Given the description of an element on the screen output the (x, y) to click on. 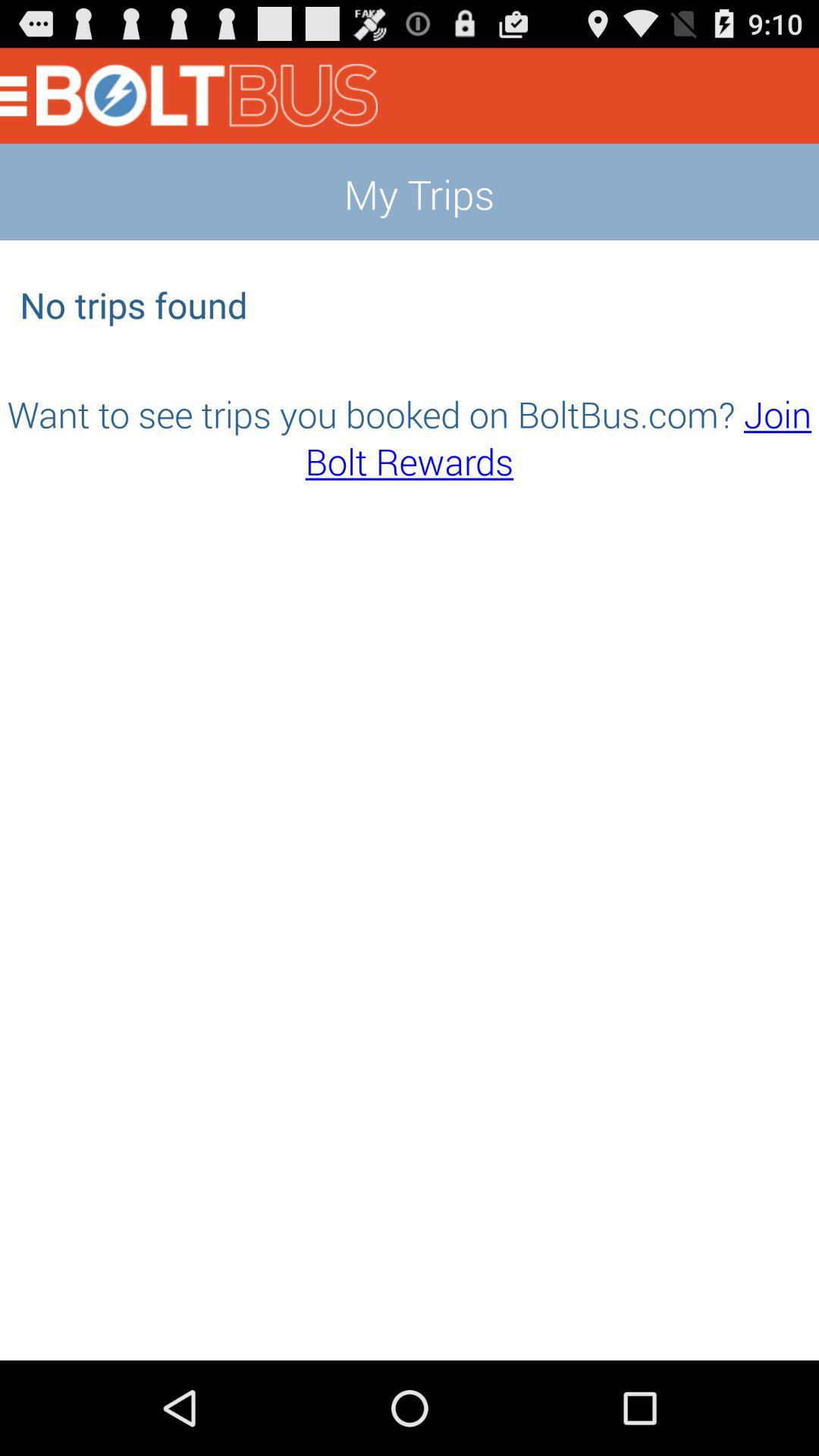
click the want to see item (409, 437)
